Given the description of an element on the screen output the (x, y) to click on. 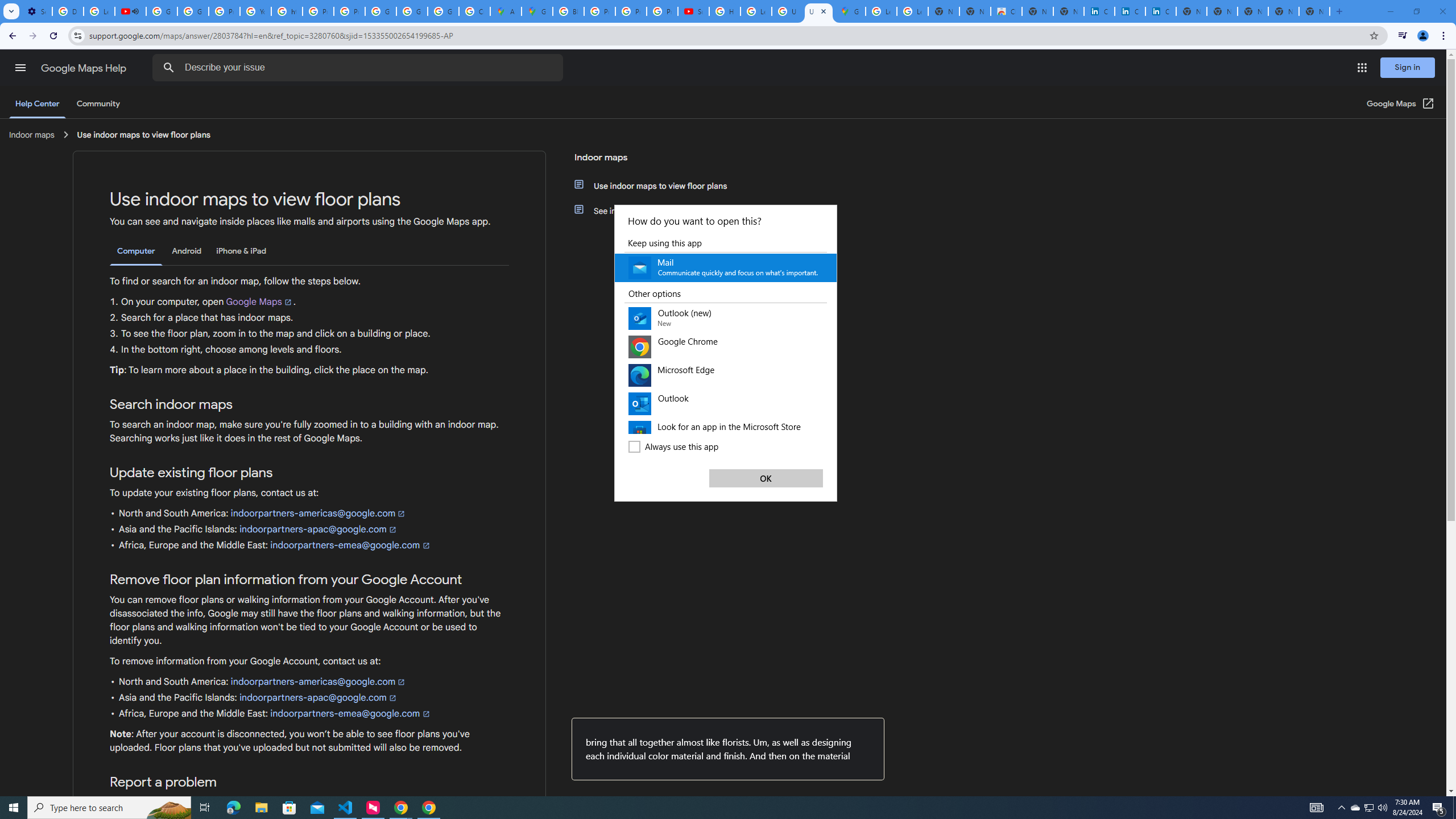
Subscriptions - YouTube (693, 11)
Q2790: 100% (1382, 807)
Learn how to find your photos - Google Photos Help (98, 11)
Settings - Customize profile (36, 11)
Google Chrome - 1 running window (428, 807)
Google Maps Help (84, 68)
Google Account Help (161, 11)
